Given the description of an element on the screen output the (x, y) to click on. 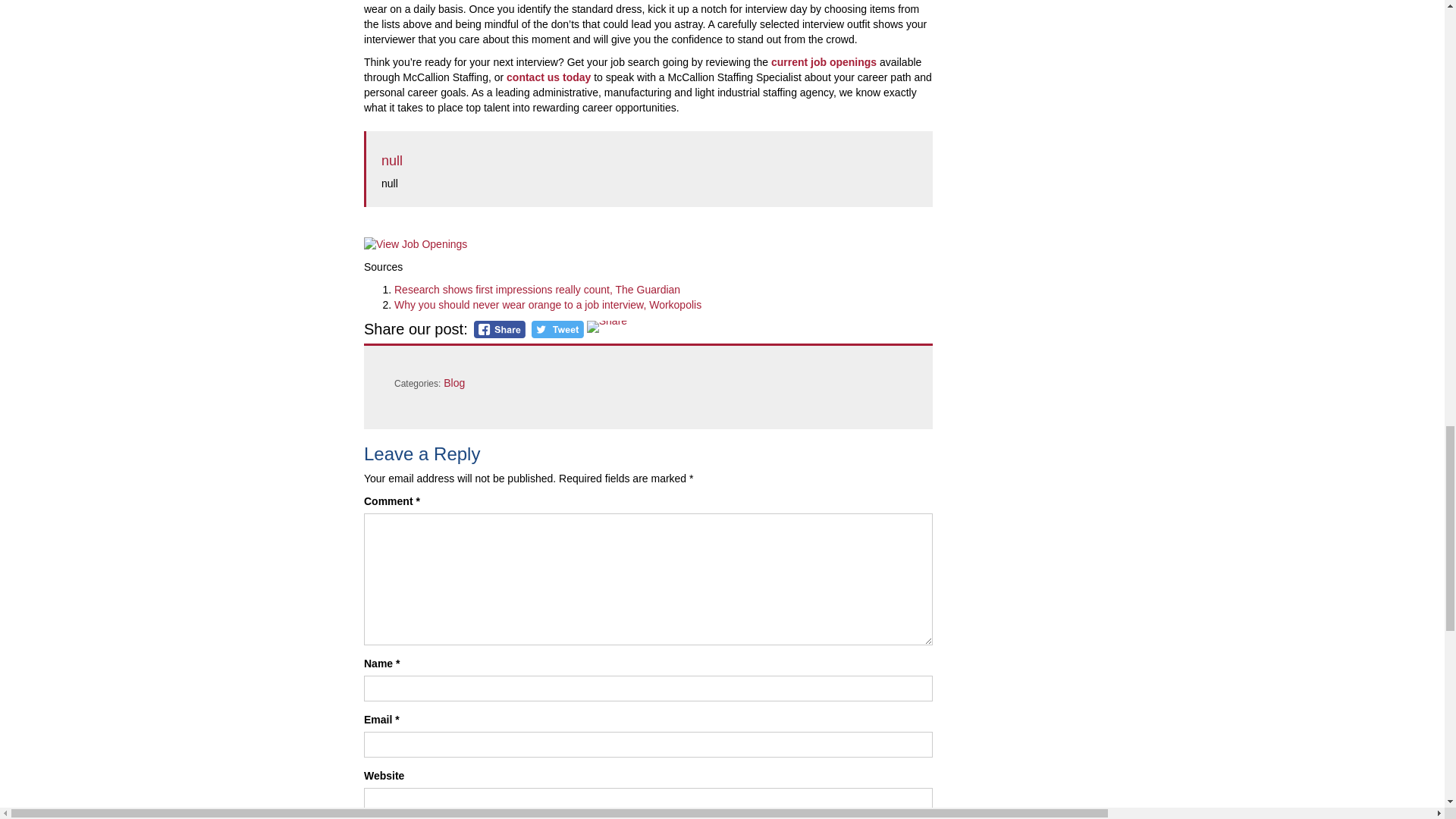
current job openings (823, 61)
Share (606, 326)
Tweet (557, 329)
Facebook Share (499, 329)
Research shows first impressions really count, The Guardian (536, 289)
contact us today (548, 77)
Blog (454, 382)
null (392, 160)
